Given the description of an element on the screen output the (x, y) to click on. 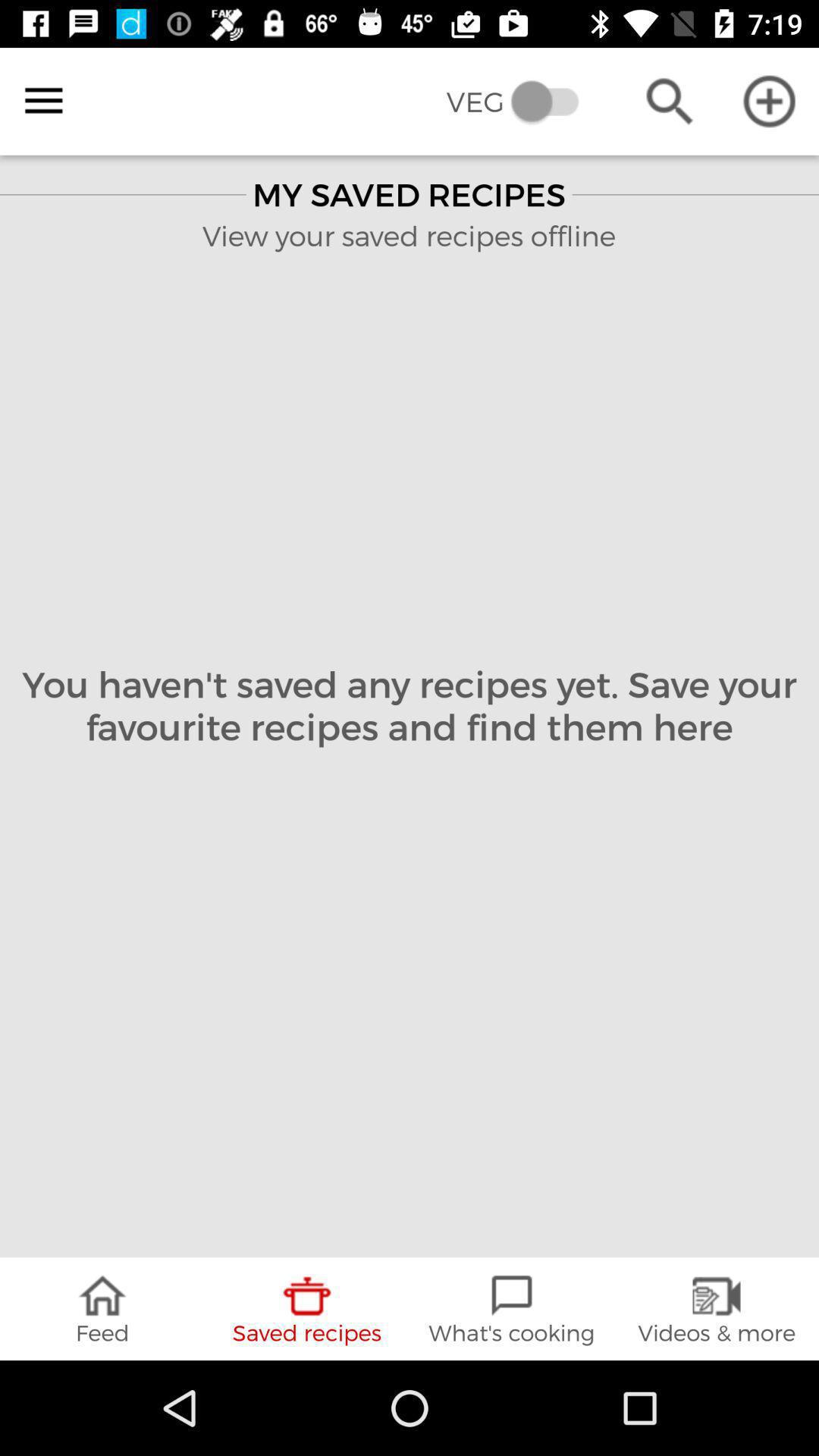
launch the item to the left of saved recipes item (102, 1308)
